Given the description of an element on the screen output the (x, y) to click on. 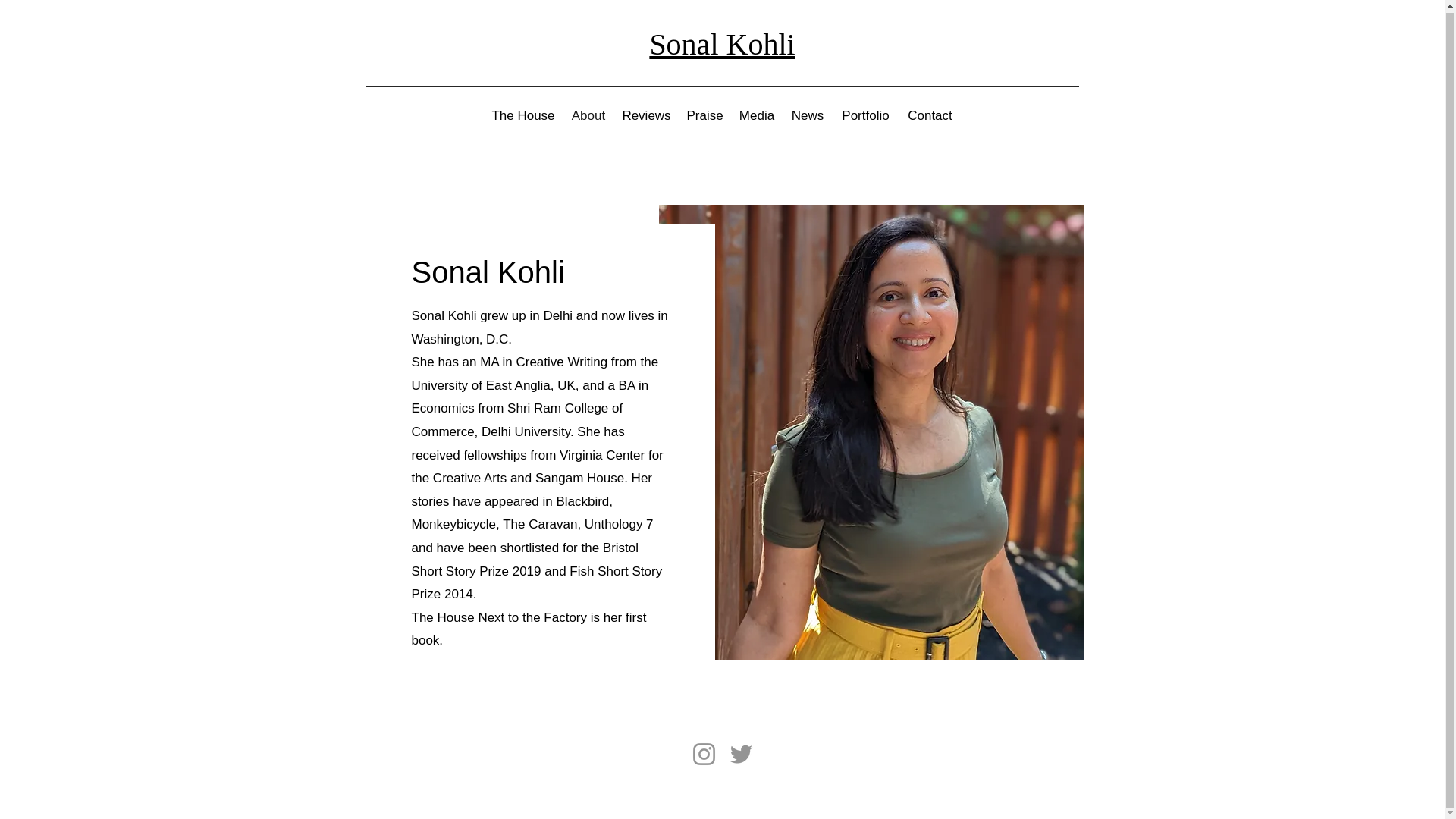
News (807, 115)
Portfolio (865, 115)
About (587, 115)
Sonal Kohli (721, 44)
Reviews (646, 115)
Praise (704, 115)
Contact (929, 115)
Media (756, 115)
The House (523, 115)
